Given the description of an element on the screen output the (x, y) to click on. 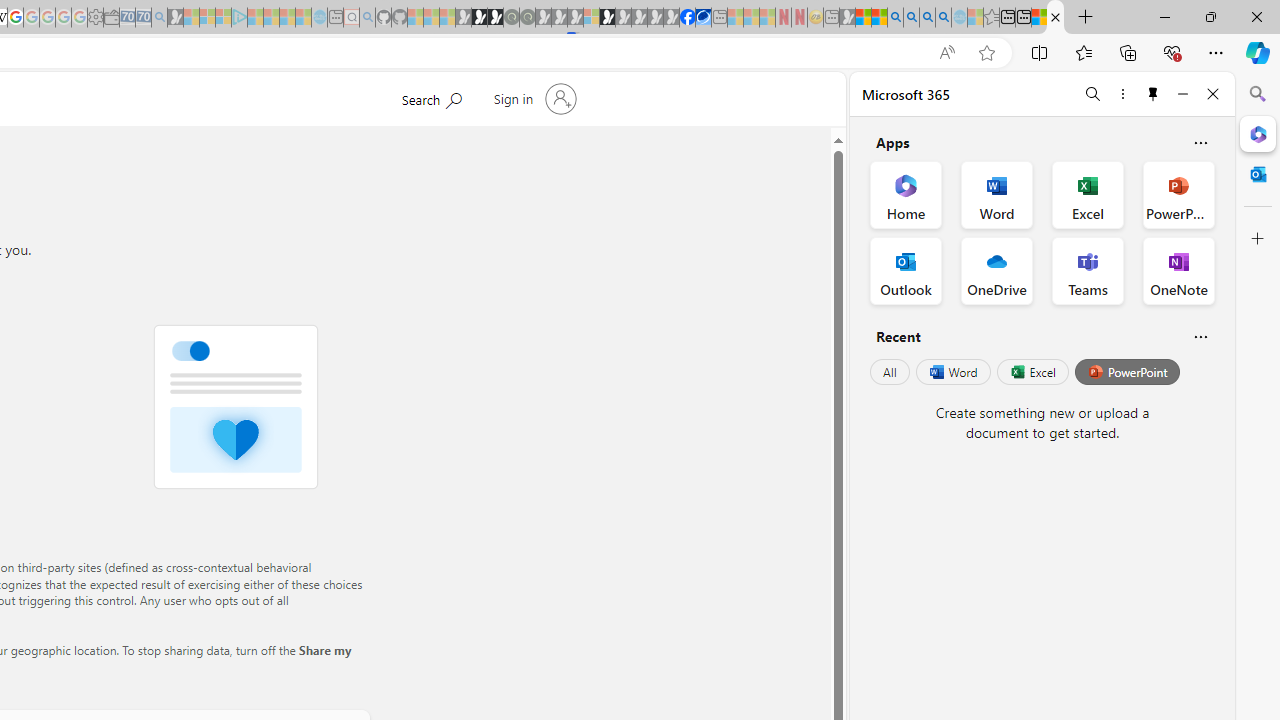
All (890, 372)
Wallet - Sleeping (111, 17)
MSN - Sleeping (847, 17)
github - Search - Sleeping (367, 17)
Bing AI - Search (895, 17)
